Given the description of an element on the screen output the (x, y) to click on. 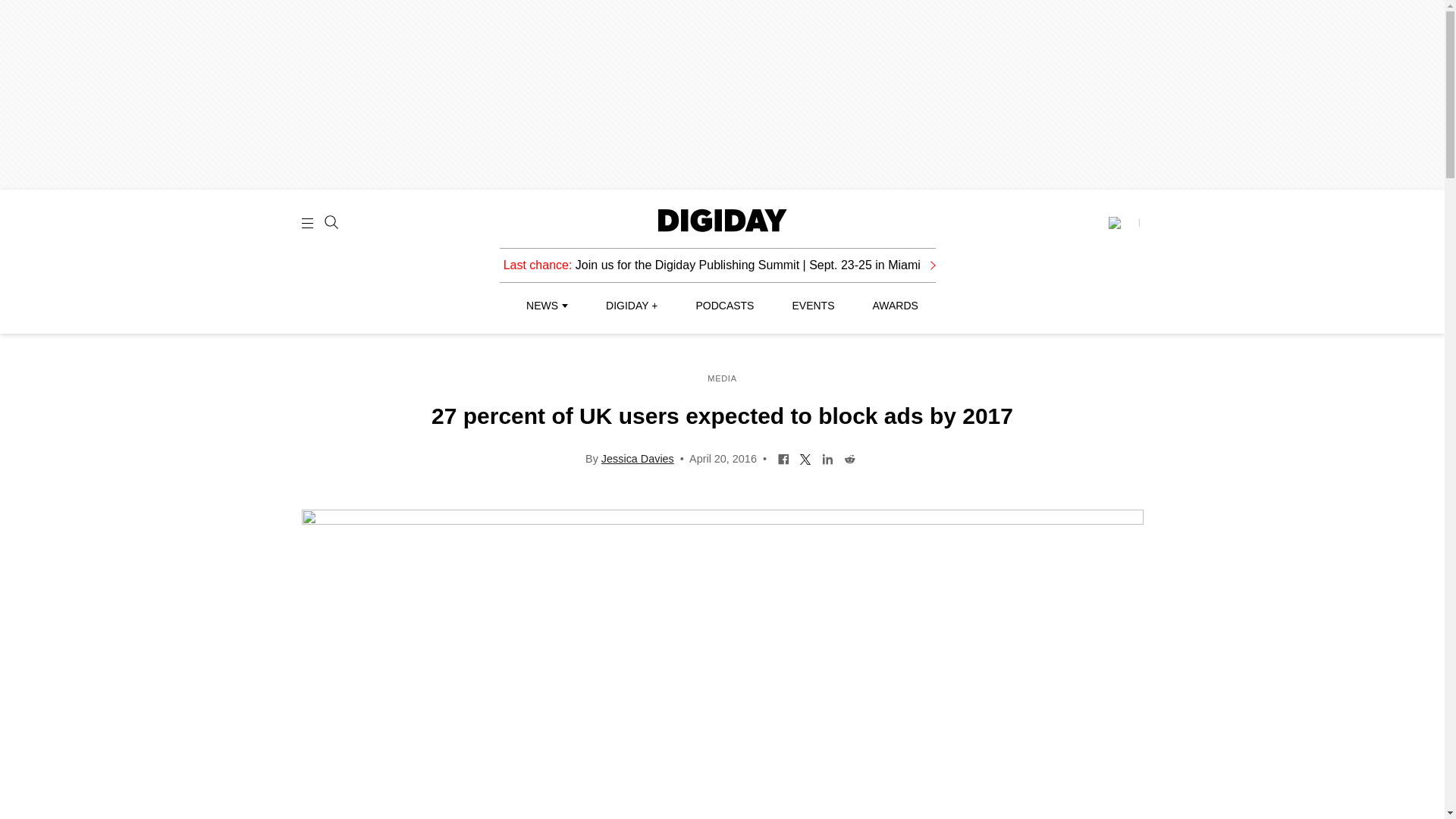
PODCASTS (725, 305)
Share on Facebook (783, 458)
AWARDS (894, 305)
Share on Twitter (805, 458)
EVENTS (813, 305)
Share on LinkedIn (827, 458)
Subscribe (1123, 223)
NEWS (546, 305)
Share on Reddit (849, 458)
